Given the description of an element on the screen output the (x, y) to click on. 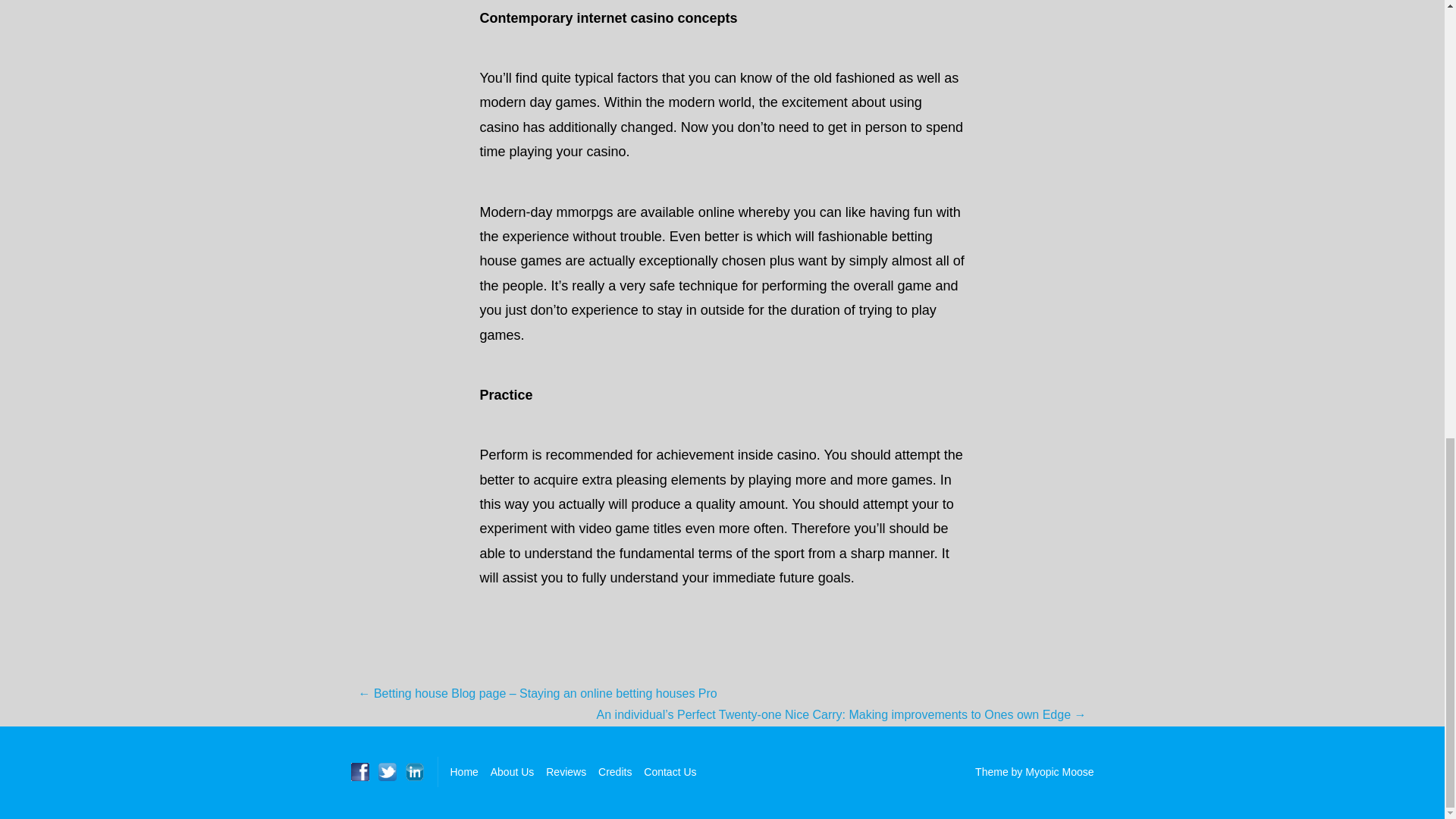
Myopic Moose (1059, 771)
About Us (512, 771)
Follow Us on Twitter (386, 771)
Follow Us on LinkedIn (413, 771)
Reviews (566, 771)
Contact Us (669, 771)
Home (464, 771)
Credits (614, 771)
Follow Us on Facebook (359, 771)
